Given the description of an element on the screen output the (x, y) to click on. 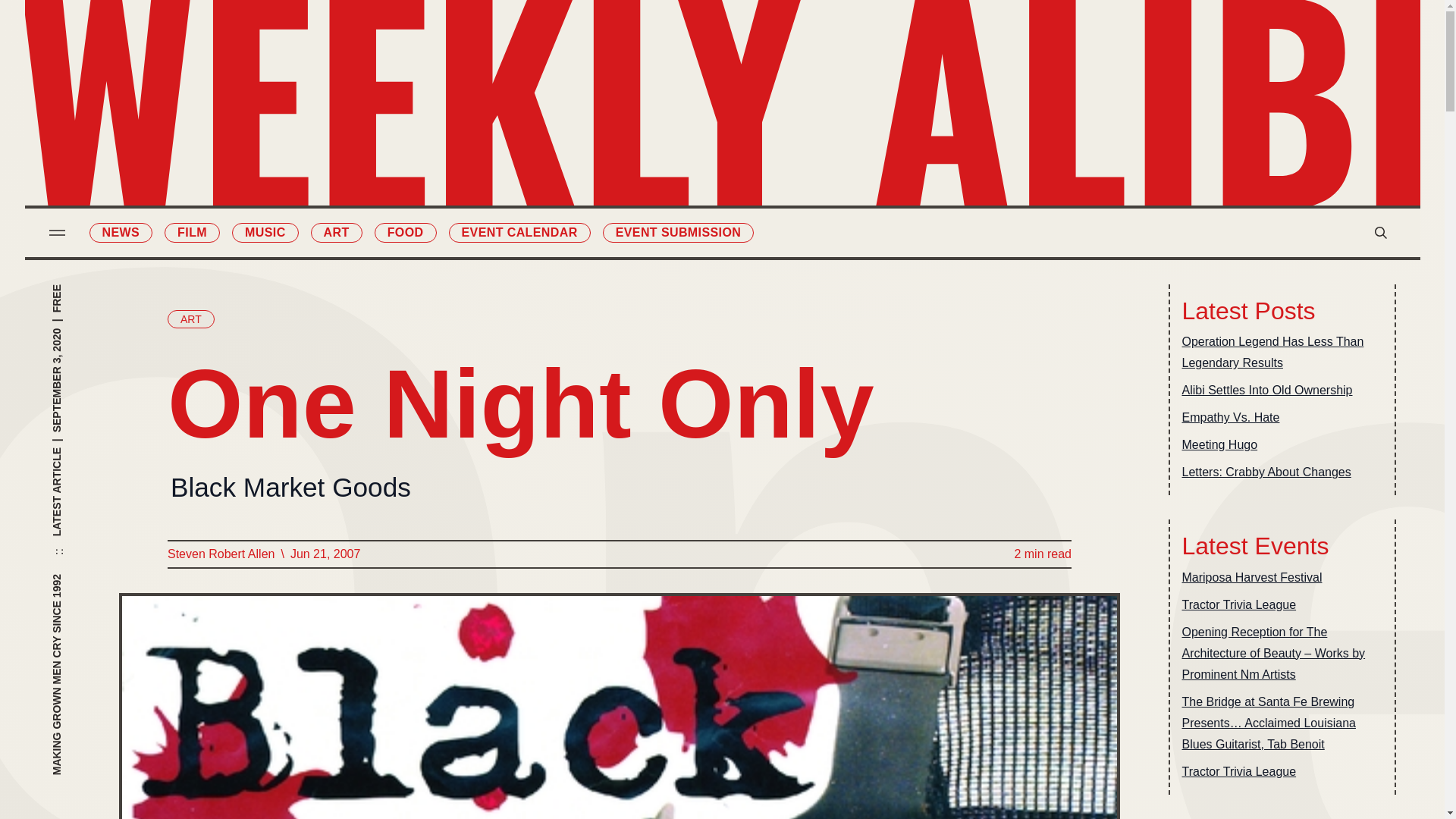
EVENTS (803, 147)
MOVIE REVIEWS (803, 51)
ART (640, 147)
FOOD (405, 232)
ART (336, 232)
NEWS (120, 232)
NEWS (640, 51)
EVENT SUBMISSION (803, 178)
FOOD (640, 178)
BUSINESS (803, 115)
FILM (191, 232)
ART (190, 319)
MUSIC (264, 232)
Steven Robert Allen (220, 554)
BOOK REVIEWS (803, 83)
